Given the description of an element on the screen output the (x, y) to click on. 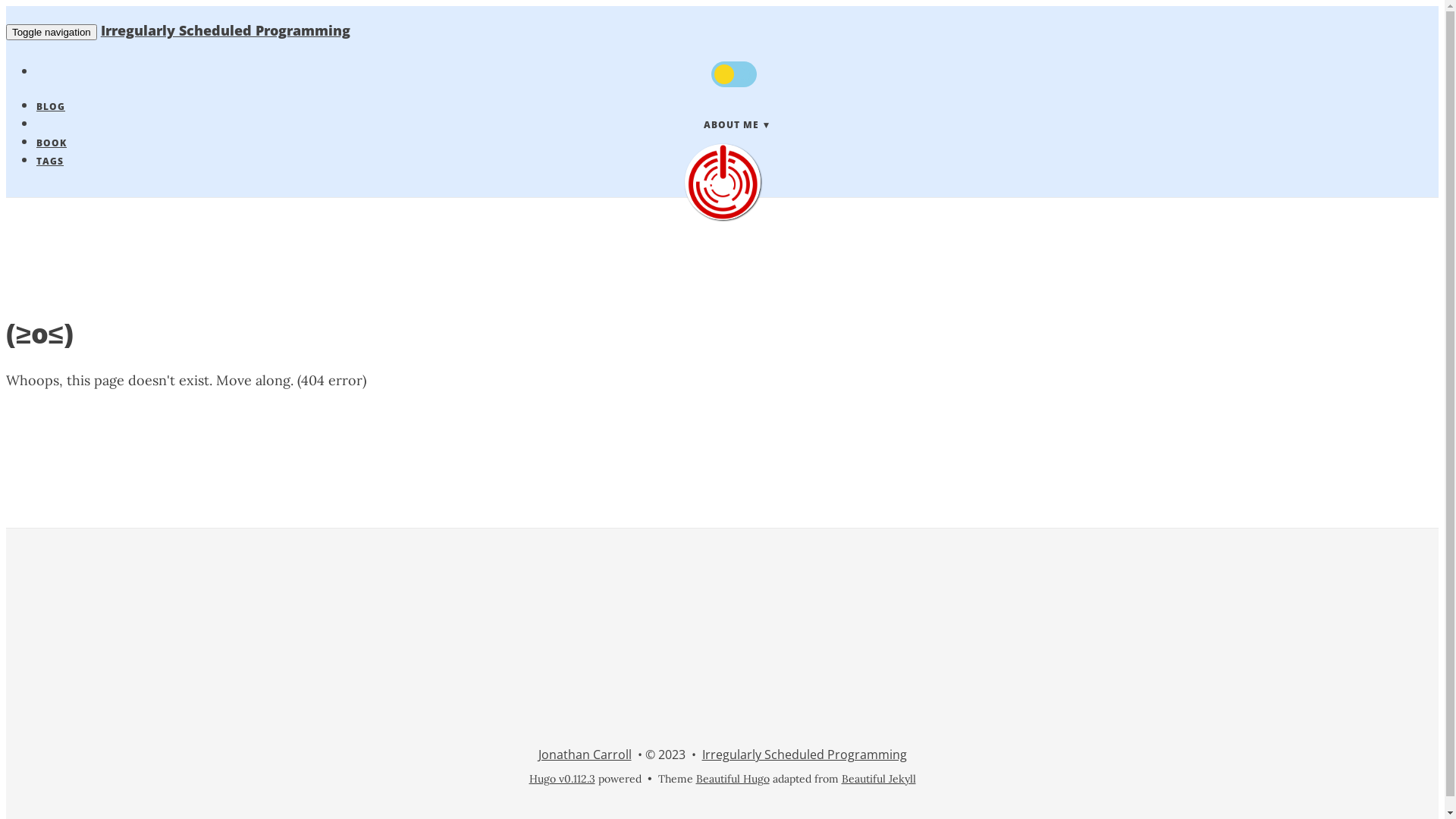
ABOUT ME Element type: text (737, 124)
BLOG Element type: text (50, 106)
Hugo v0.112.3 Element type: text (562, 778)
Jonathan Carroll Element type: text (584, 754)
Toggle navigation Element type: text (51, 32)
Irregularly Scheduled Programming Element type: hover (721, 181)
TAGS Element type: text (49, 160)
BOOK Element type: text (51, 142)
Irregularly Scheduled Programming Element type: text (804, 754)
Beautiful Hugo Element type: text (732, 778)
Irregularly Scheduled Programming Element type: text (225, 30)
Beautiful Jekyll Element type: text (878, 778)
